Given the description of an element on the screen output the (x, y) to click on. 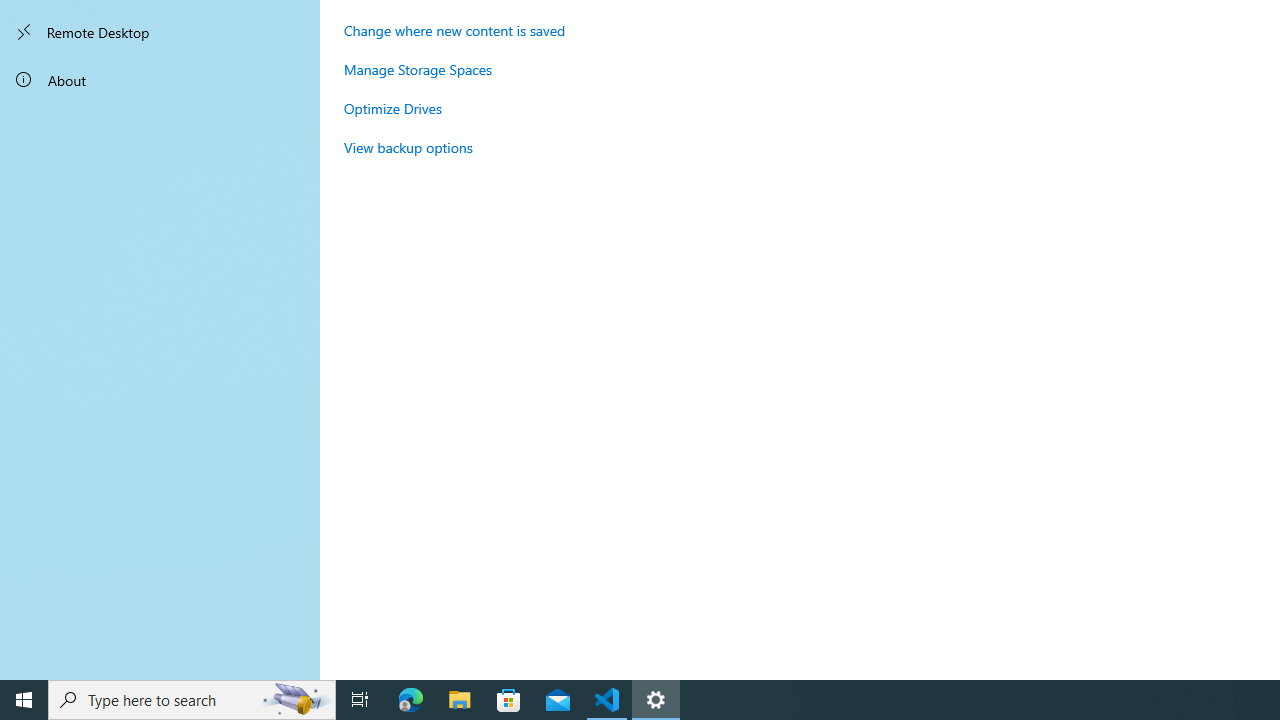
File Explorer (460, 699)
View backup options (408, 147)
Manage Storage Spaces (417, 69)
Type here to search (191, 699)
Settings - 1 running window (656, 699)
Change where new content is saved (454, 30)
Task View (359, 699)
Remote Desktop (160, 31)
About (160, 79)
Microsoft Store (509, 699)
Optimize Drives (392, 108)
Visual Studio Code - 1 running window (607, 699)
Microsoft Edge (411, 699)
Search highlights icon opens search home window (295, 699)
